Given the description of an element on the screen output the (x, y) to click on. 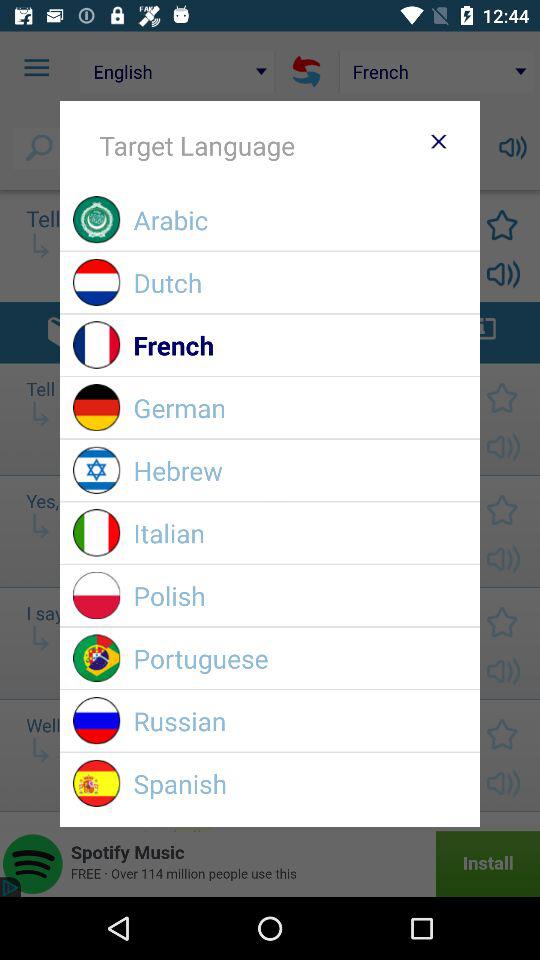
click the item below the russian item (300, 783)
